Given the description of an element on the screen output the (x, y) to click on. 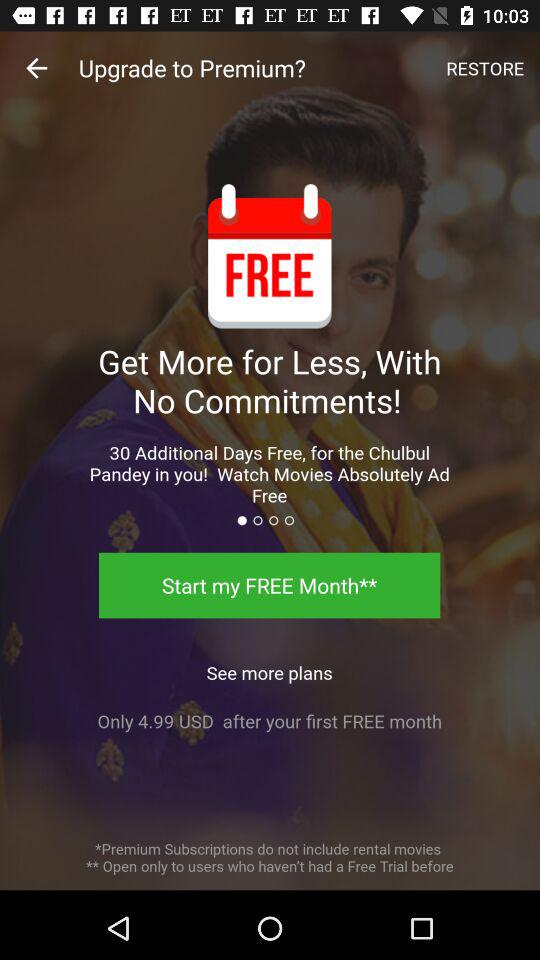
scroll to start my free item (269, 585)
